Given the description of an element on the screen output the (x, y) to click on. 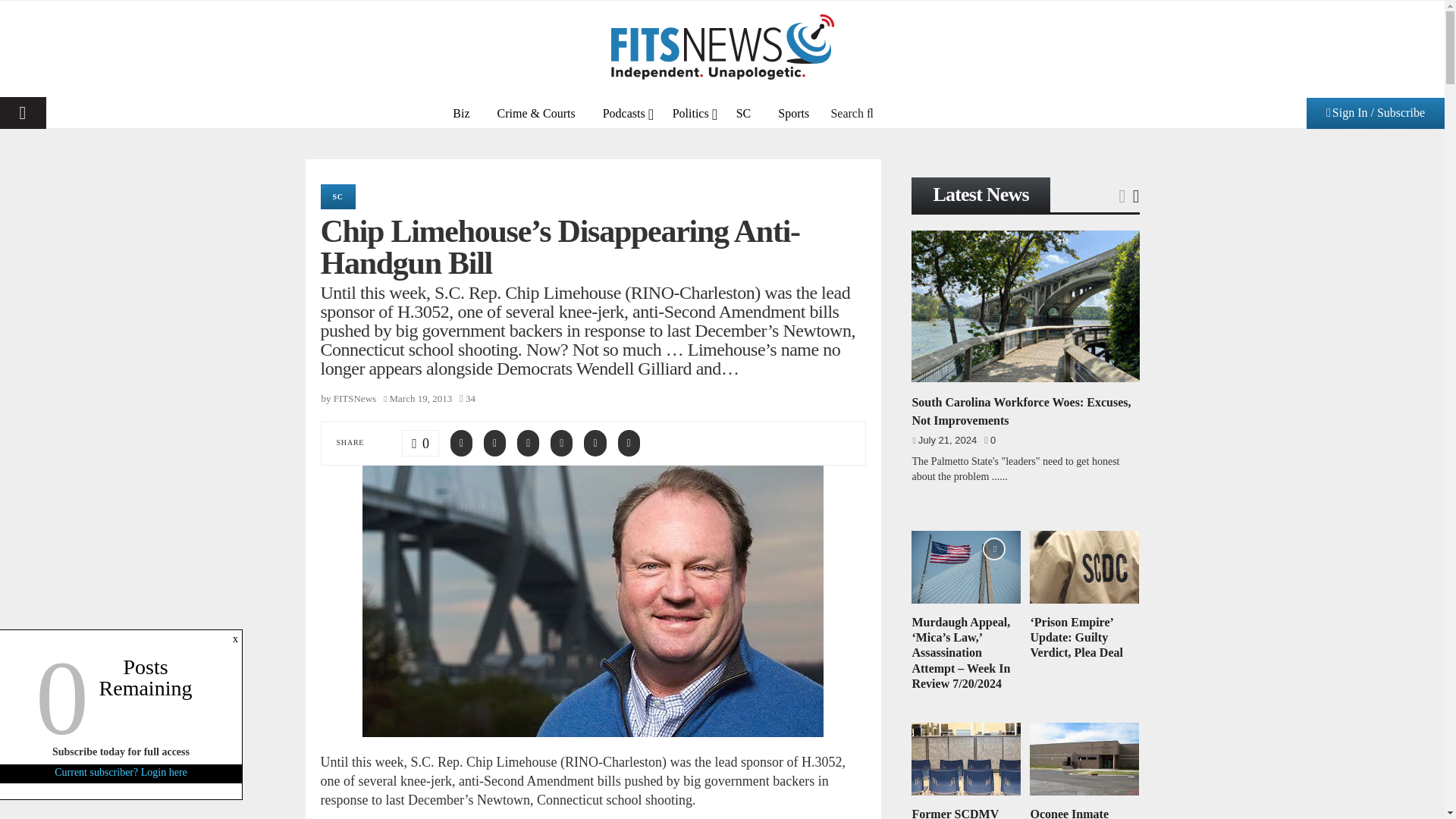
Login to your account (722, 262)
Like (420, 442)
Podcasts (624, 112)
SC (743, 112)
Search (852, 112)
PRIMARY MENU (22, 112)
Sign up new account (722, 415)
Sign up new account (722, 538)
Politics (690, 112)
Sports (793, 112)
Biz (461, 112)
